Given the description of an element on the screen output the (x, y) to click on. 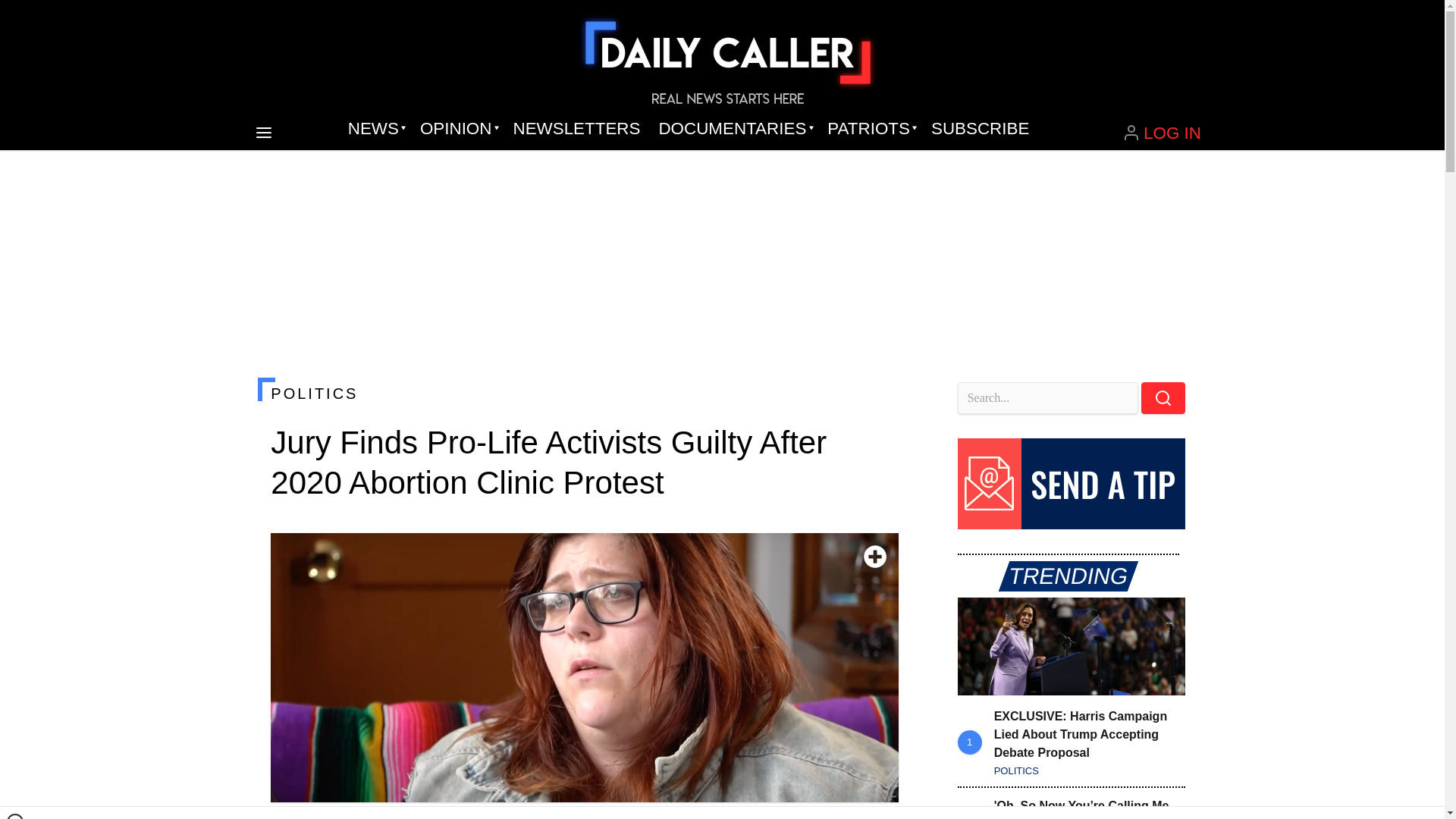
Close window (14, 816)
PATRIOTS (869, 128)
POLITICS (584, 393)
SUBSCRIBE (979, 128)
Toggle fullscreen (874, 556)
NEWS (374, 128)
OPINION (456, 128)
DOCUMENTARIES (733, 128)
